Given the description of an element on the screen output the (x, y) to click on. 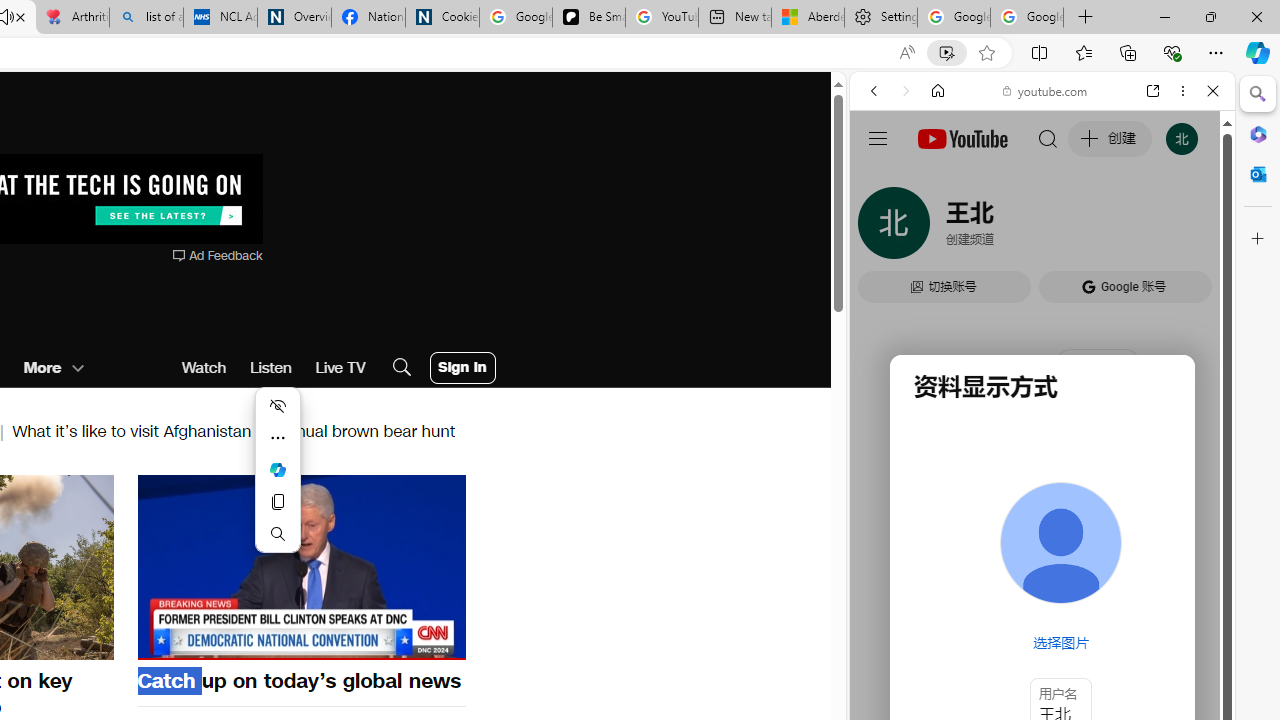
youtube.com (1046, 90)
Backward 10 seconds (241, 565)
Copy (277, 501)
Hide menu (277, 405)
